Given the description of an element on the screen output the (x, y) to click on. 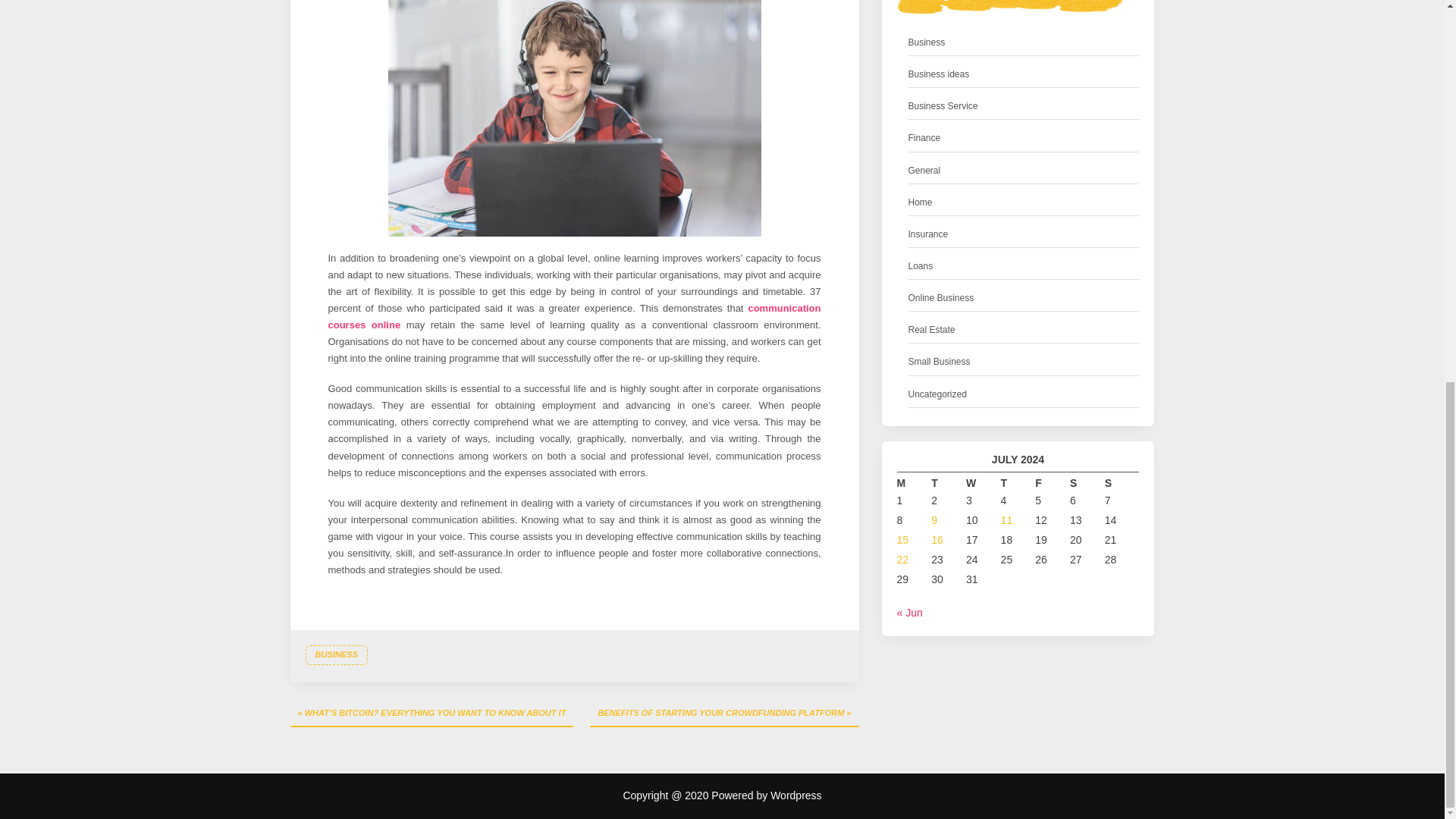
16 (937, 539)
Business (926, 42)
BENEFITS OF STARTING YOUR CROWDFUNDING PLATFORM (724, 714)
Insurance (928, 234)
communication courses online (574, 316)
Finance (924, 138)
Real Estate (931, 330)
Thursday (1018, 483)
Communication Courses Online (574, 118)
Monday (913, 483)
Business ideas (938, 74)
Loans (920, 266)
Wednesday (983, 483)
Home (920, 202)
15 (902, 539)
